Given the description of an element on the screen output the (x, y) to click on. 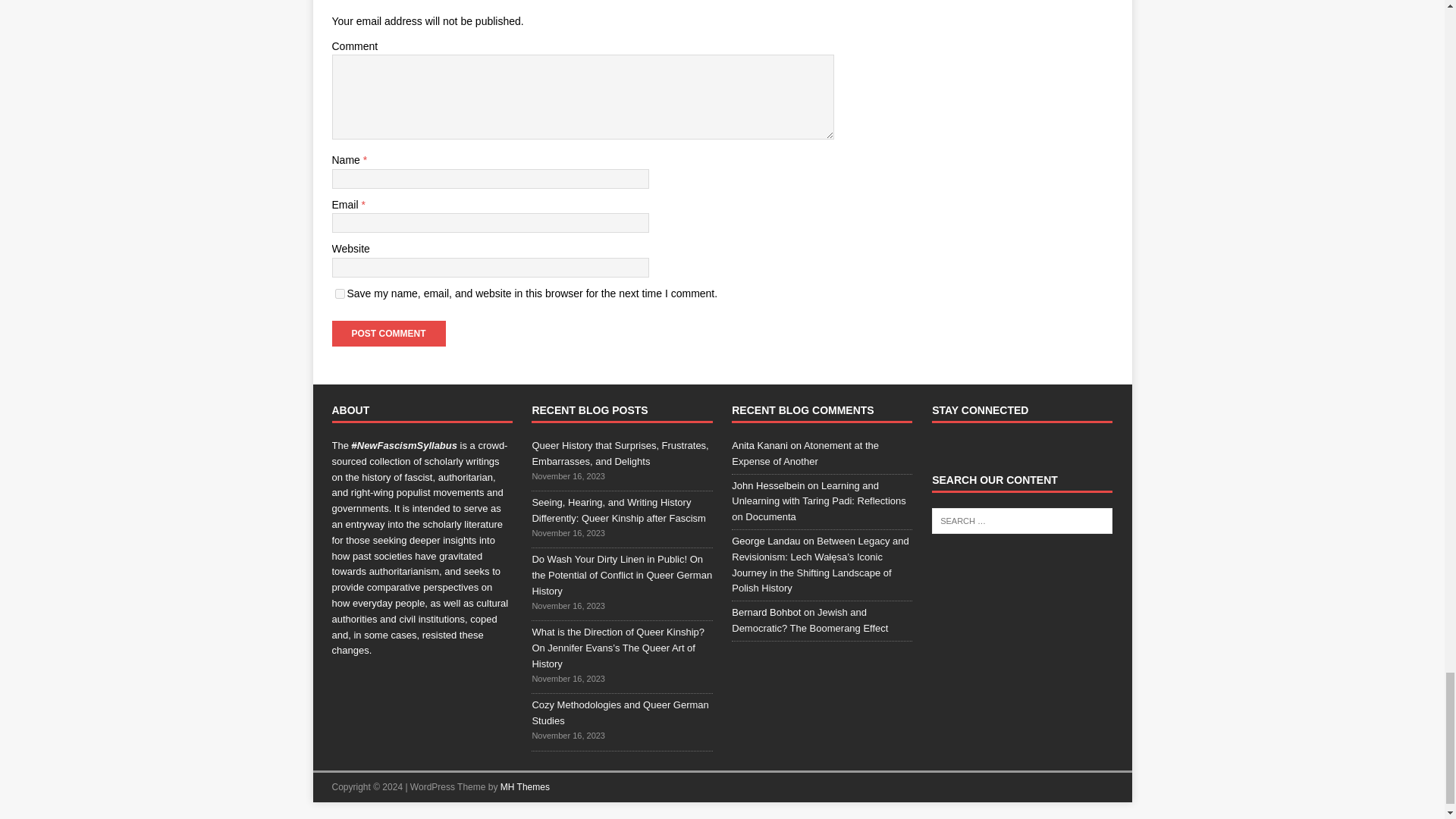
Post Comment (388, 333)
yes (339, 293)
